Given the description of an element on the screen output the (x, y) to click on. 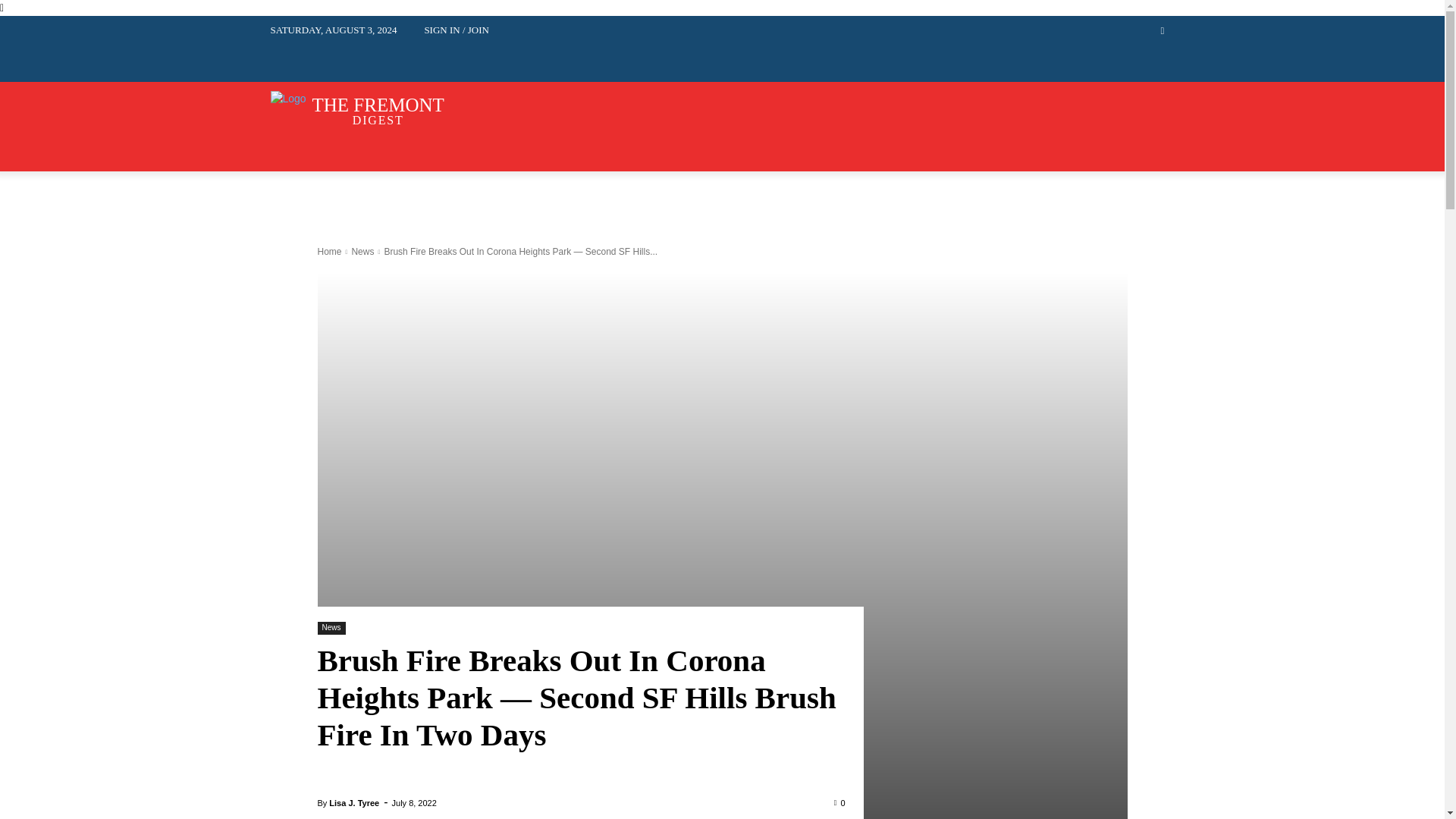
View all posts in News (362, 251)
